Given the description of an element on the screen output the (x, y) to click on. 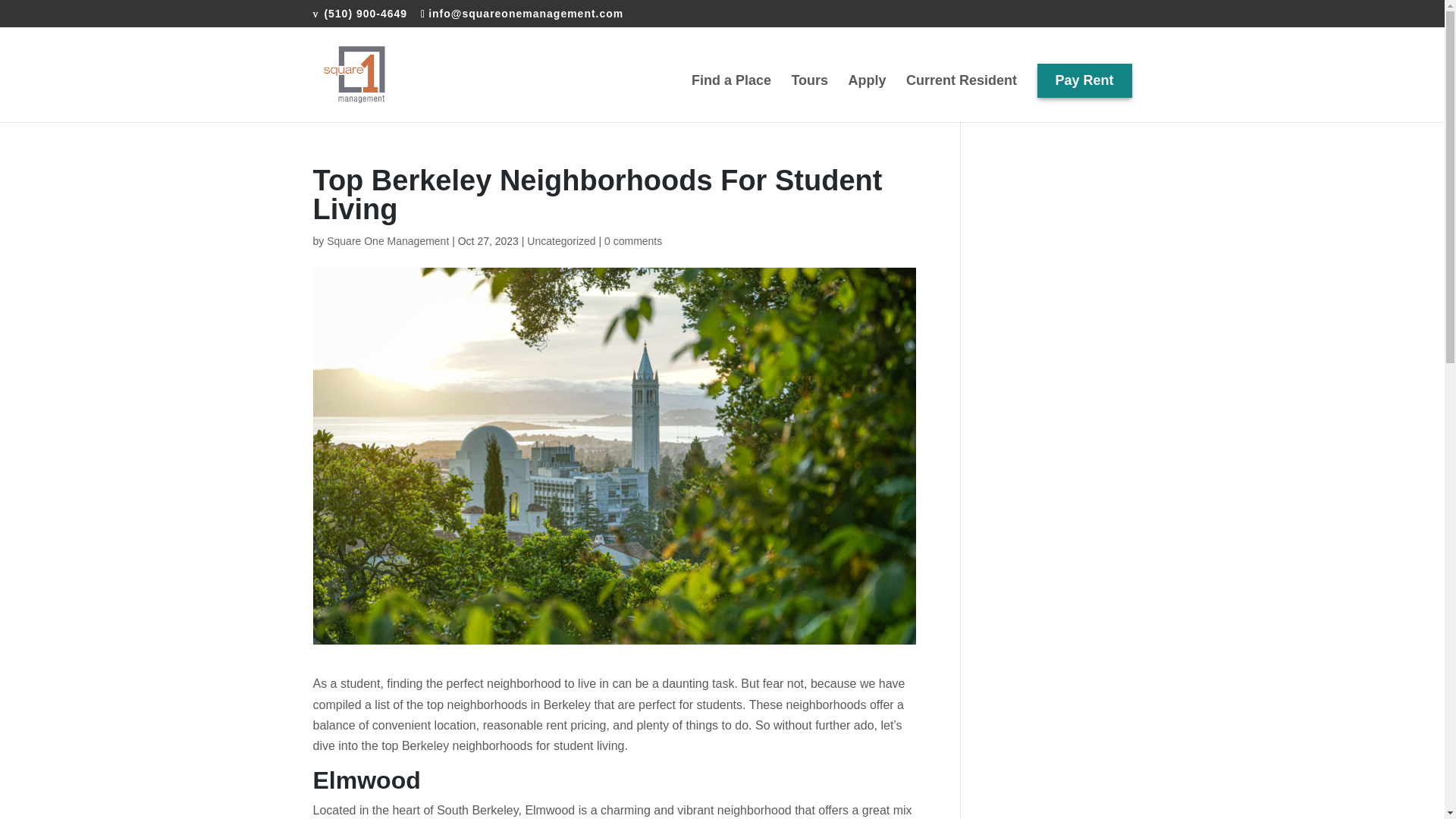
Uncategorized (561, 241)
Find a Place (731, 98)
0 comments (633, 241)
Square One Management (387, 241)
Current Resident (960, 98)
Pay Rent (1084, 98)
Posts by Square One Management (387, 241)
